Given the description of an element on the screen output the (x, y) to click on. 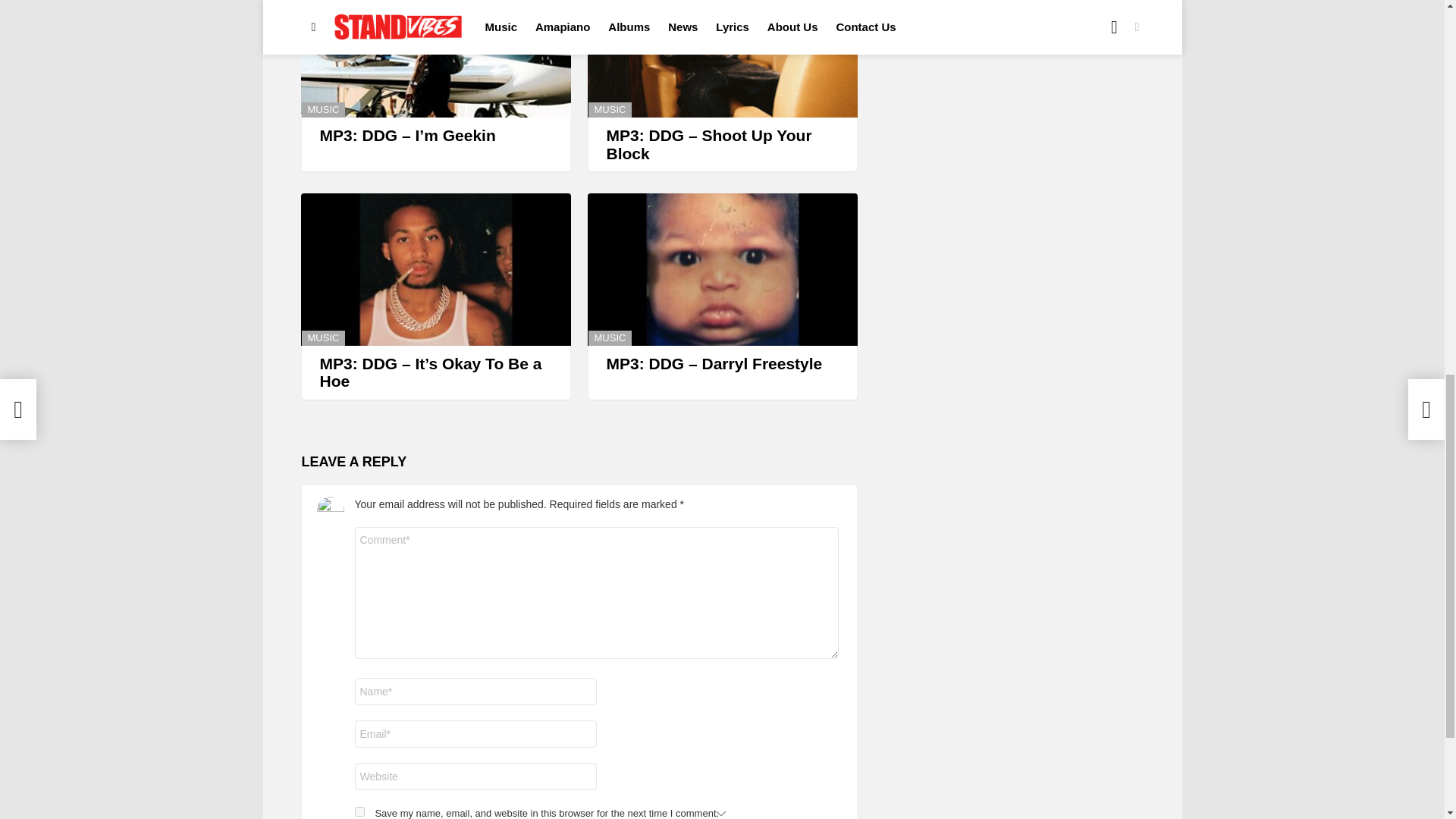
MUSIC (609, 337)
MUSIC (609, 109)
MUSIC (323, 109)
yes (360, 811)
MUSIC (323, 337)
